Given the description of an element on the screen output the (x, y) to click on. 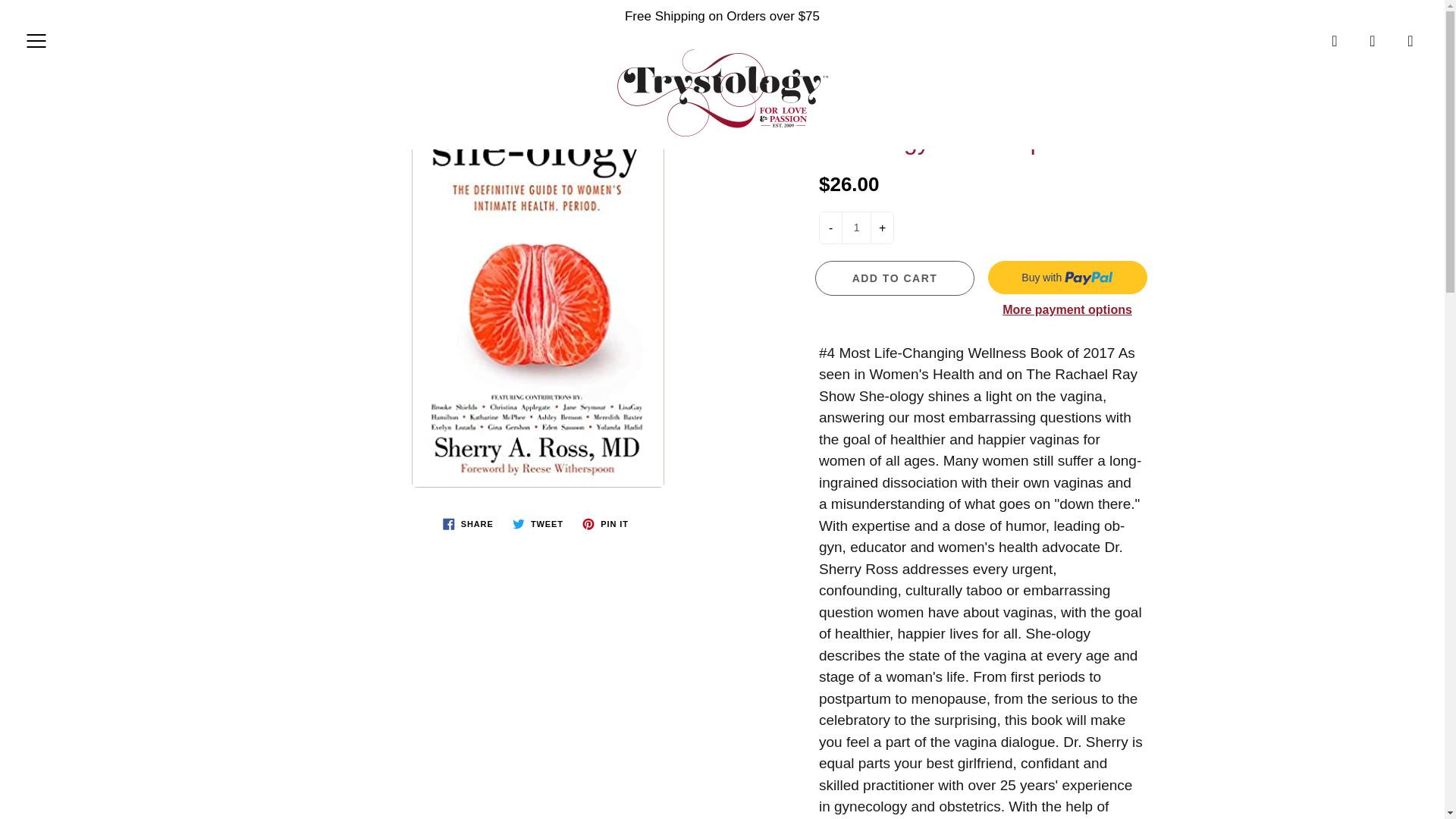
Press space bar to toggle menu (36, 40)
1 (855, 227)
Tweet on Twitter (537, 524)
Pin on Pinterest (604, 524)
You have 0 items in your cart (1410, 40)
Home (660, 78)
My account (1372, 40)
Search (1334, 40)
Share on Facebook (467, 524)
